Given the description of an element on the screen output the (x, y) to click on. 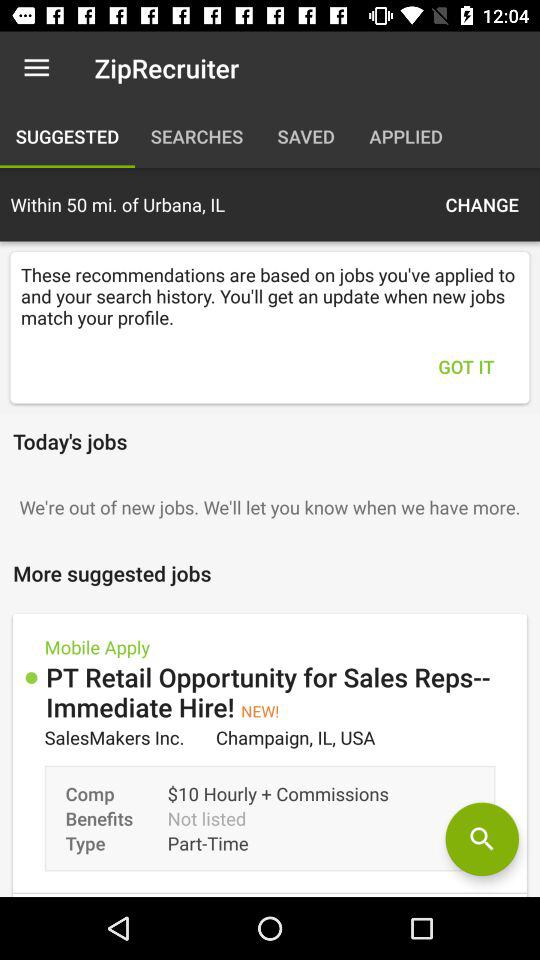
launch icon to the left of ziprecruiter icon (36, 68)
